Given the description of an element on the screen output the (x, y) to click on. 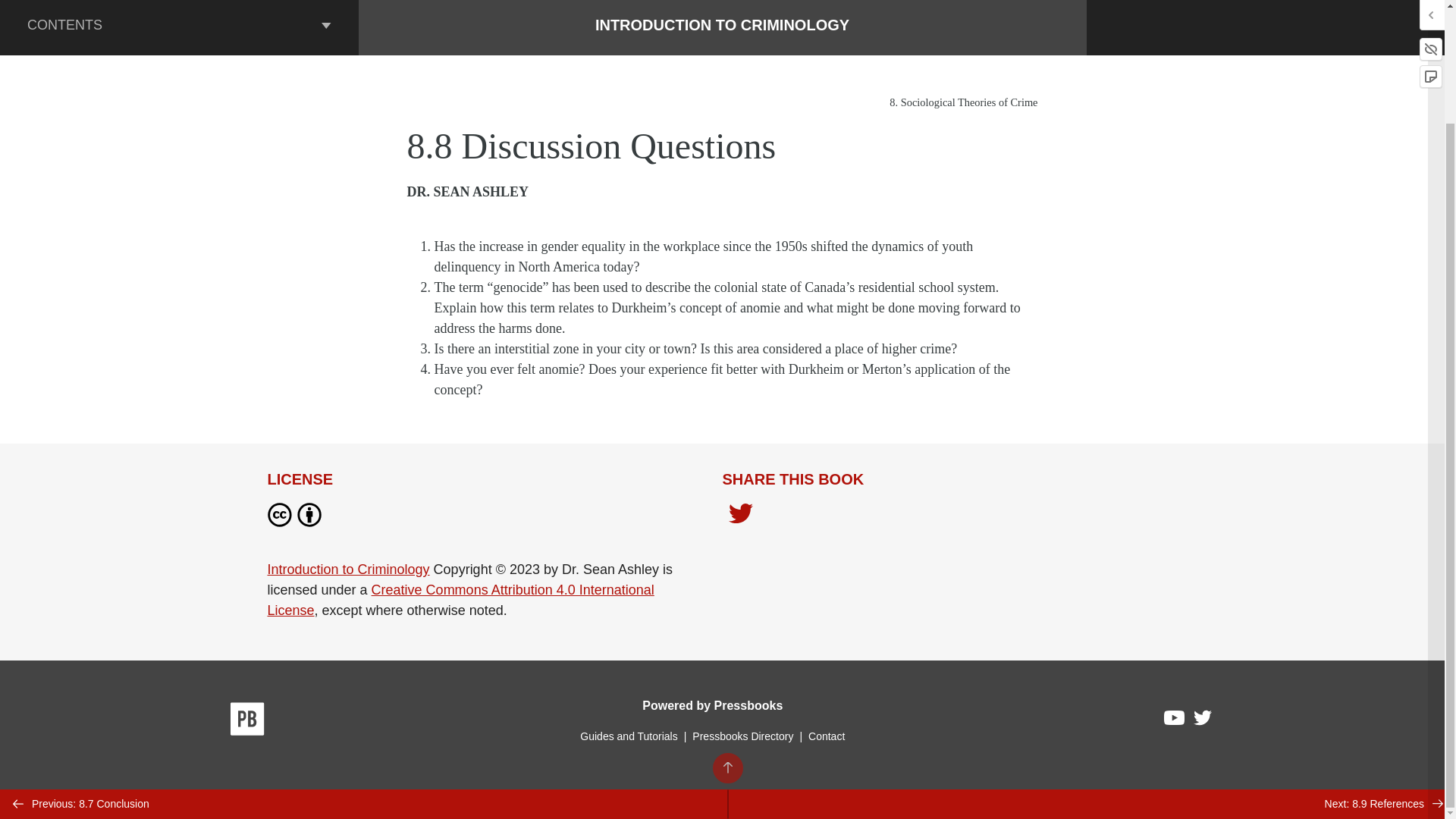
INTRODUCTION TO CRIMINOLOGY (721, 24)
Creative Commons Attribution 4.0 International License (459, 600)
CONTENTS (178, 27)
Powered by Pressbooks (712, 705)
Share on Twitter (740, 517)
BACK TO TOP (727, 634)
Pressbooks Directory (742, 736)
Guides and Tutorials (627, 736)
Contact (826, 736)
Previous: 8.7 Conclusion (364, 669)
Pressbooks on YouTube (1174, 721)
Introduction to Criminology (347, 569)
Share on Twitter (740, 514)
Previous: 8.7 Conclusion (364, 669)
